Given the description of an element on the screen output the (x, y) to click on. 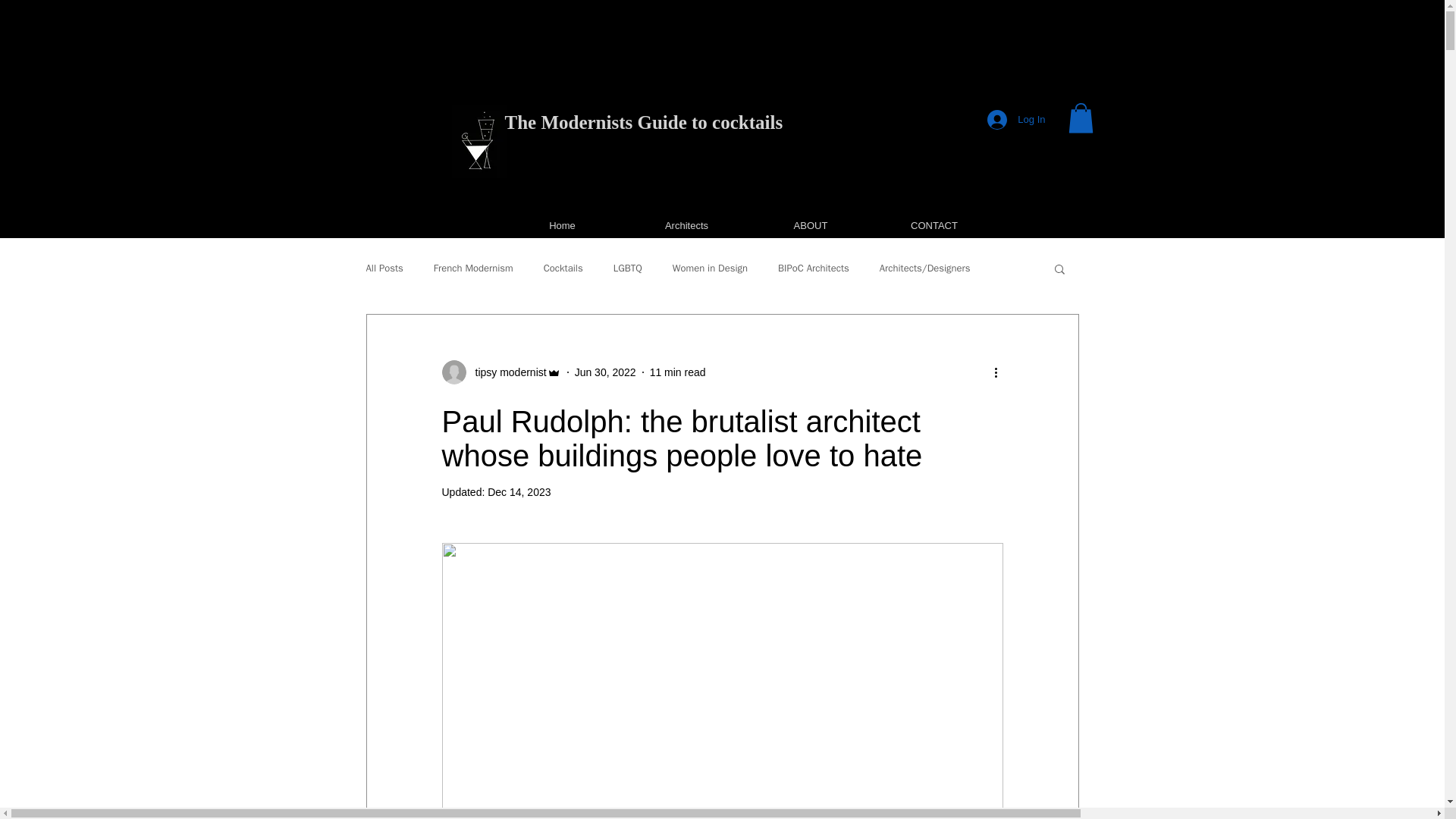
Jun 30, 2022 (605, 371)
Log In (1015, 119)
tipsy modernist (500, 372)
CONTACT (933, 225)
All Posts (384, 268)
Dec 14, 2023 (518, 491)
Cocktails (563, 268)
tipsy modernist (505, 371)
Women in Design (710, 268)
LGBTQ (627, 268)
